Given the description of an element on the screen output the (x, y) to click on. 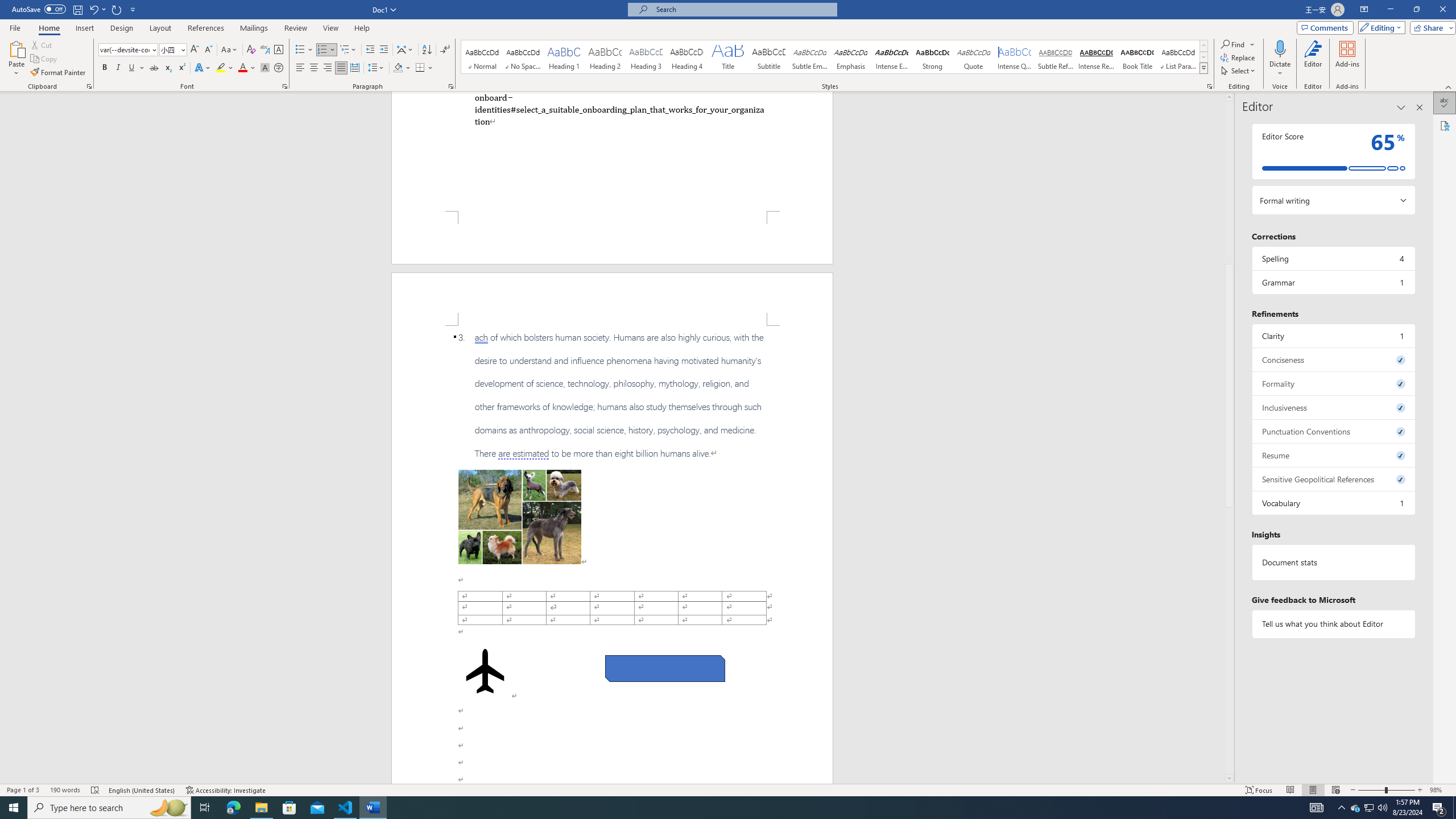
Spelling and Grammar Check Errors (94, 790)
File Tab (15, 27)
Page 2 content (611, 554)
AutomationID: QuickStylesGallery (834, 56)
Mailings (253, 28)
Editor (1444, 102)
Help (361, 28)
Web Layout (1335, 790)
Underline (136, 67)
